Given the description of an element on the screen output the (x, y) to click on. 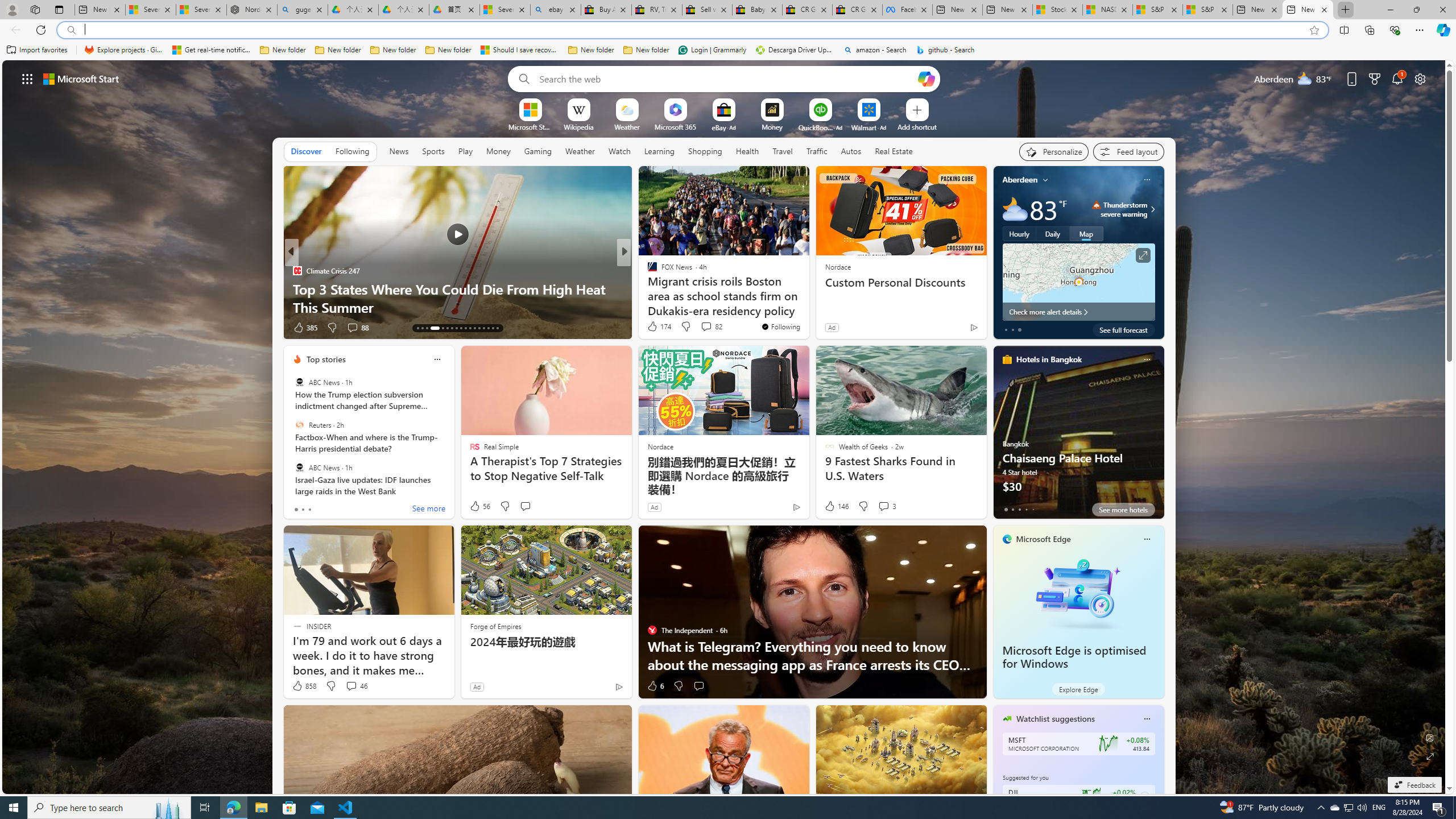
Watchlist suggestions (1055, 718)
You're following FOX News (780, 326)
Learning (659, 151)
Page settings (1420, 78)
tab-2 (1019, 509)
How to Use a Monitor With Your Closed Laptop (807, 307)
AutomationID: tab-28 (492, 328)
View comments 88 Comment (352, 327)
The 9 Biggest Sharks in the Atlantic Ocean (807, 307)
